Given the description of an element on the screen output the (x, y) to click on. 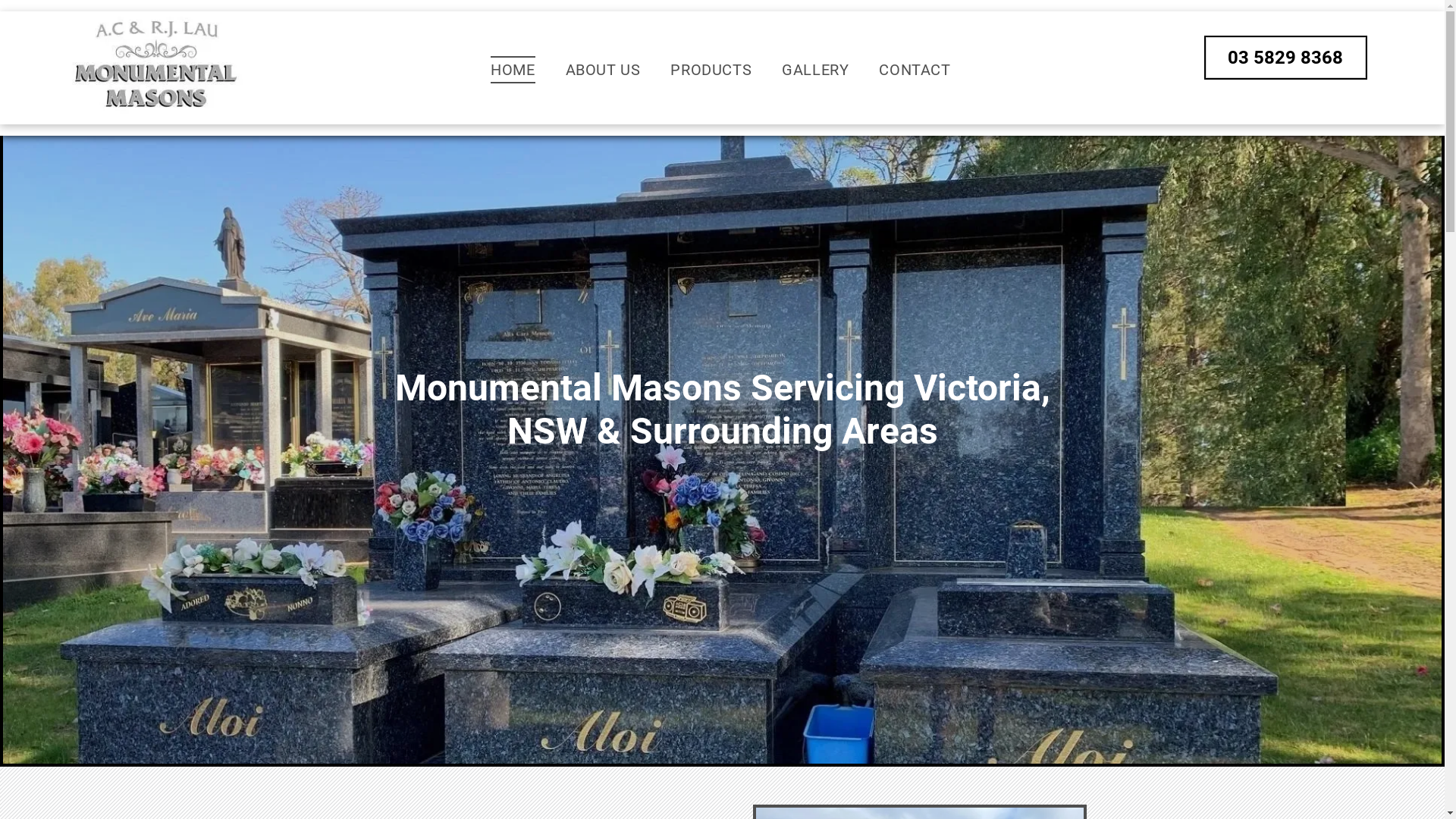
CONTACT Element type: text (914, 69)
HOME Element type: text (512, 69)
ABOUT US Element type: text (602, 69)
GALLERY Element type: text (814, 69)
PRODUCTS Element type: text (710, 69)
03 5829 8368 Element type: text (1285, 57)
